Given the description of an element on the screen output the (x, y) to click on. 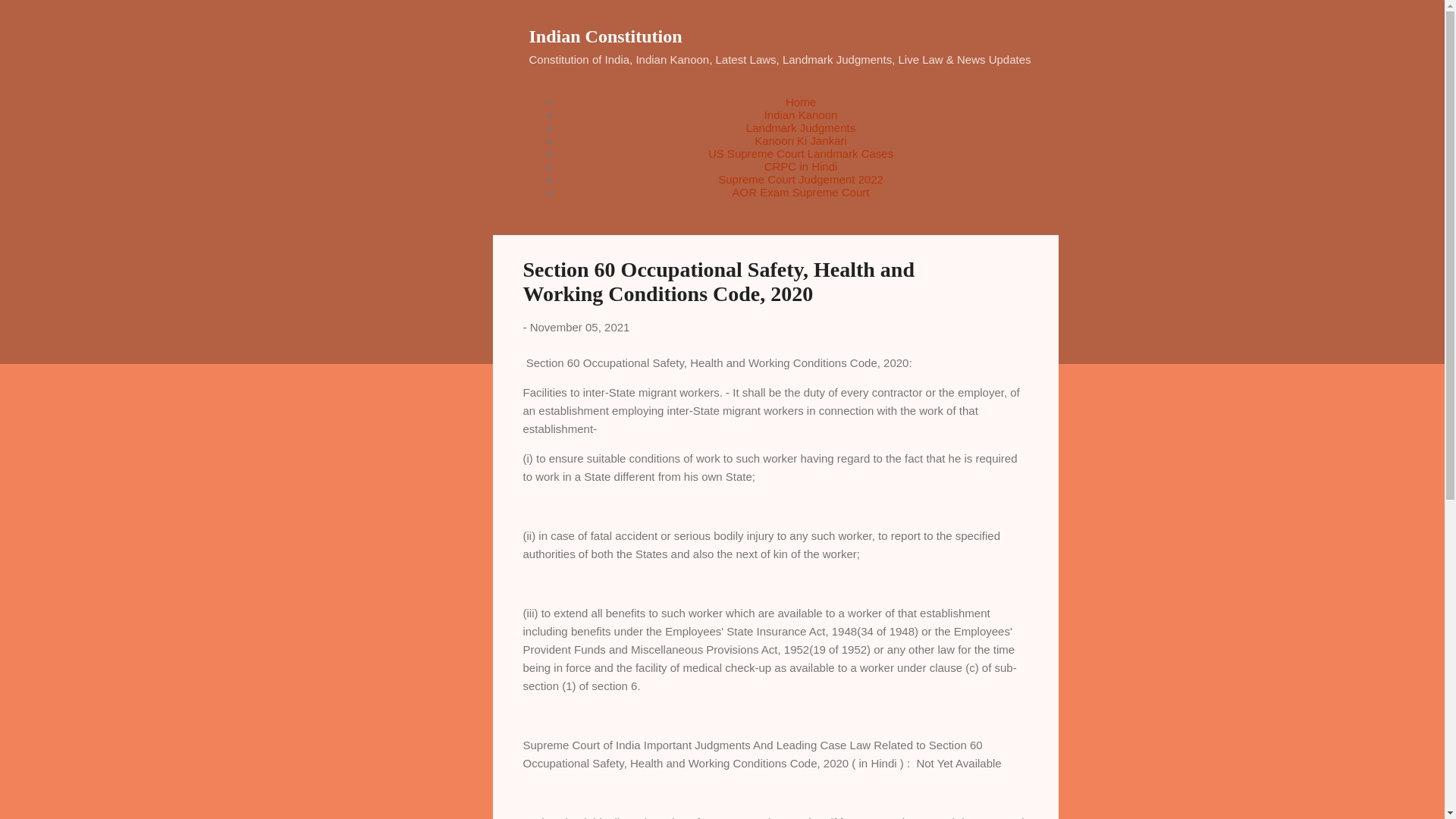
Home (800, 101)
Indian Constitution (605, 35)
US Supreme Court Landmark Cases (800, 153)
CRPC in Hindi (801, 165)
Supreme Court Judgement 2022 (800, 178)
Search (29, 18)
November 05, 2021 (579, 327)
Kanoon Ki Jankari (800, 140)
Indian Kanoon (801, 114)
AOR Exam Supreme Court (800, 192)
